Given the description of an element on the screen output the (x, y) to click on. 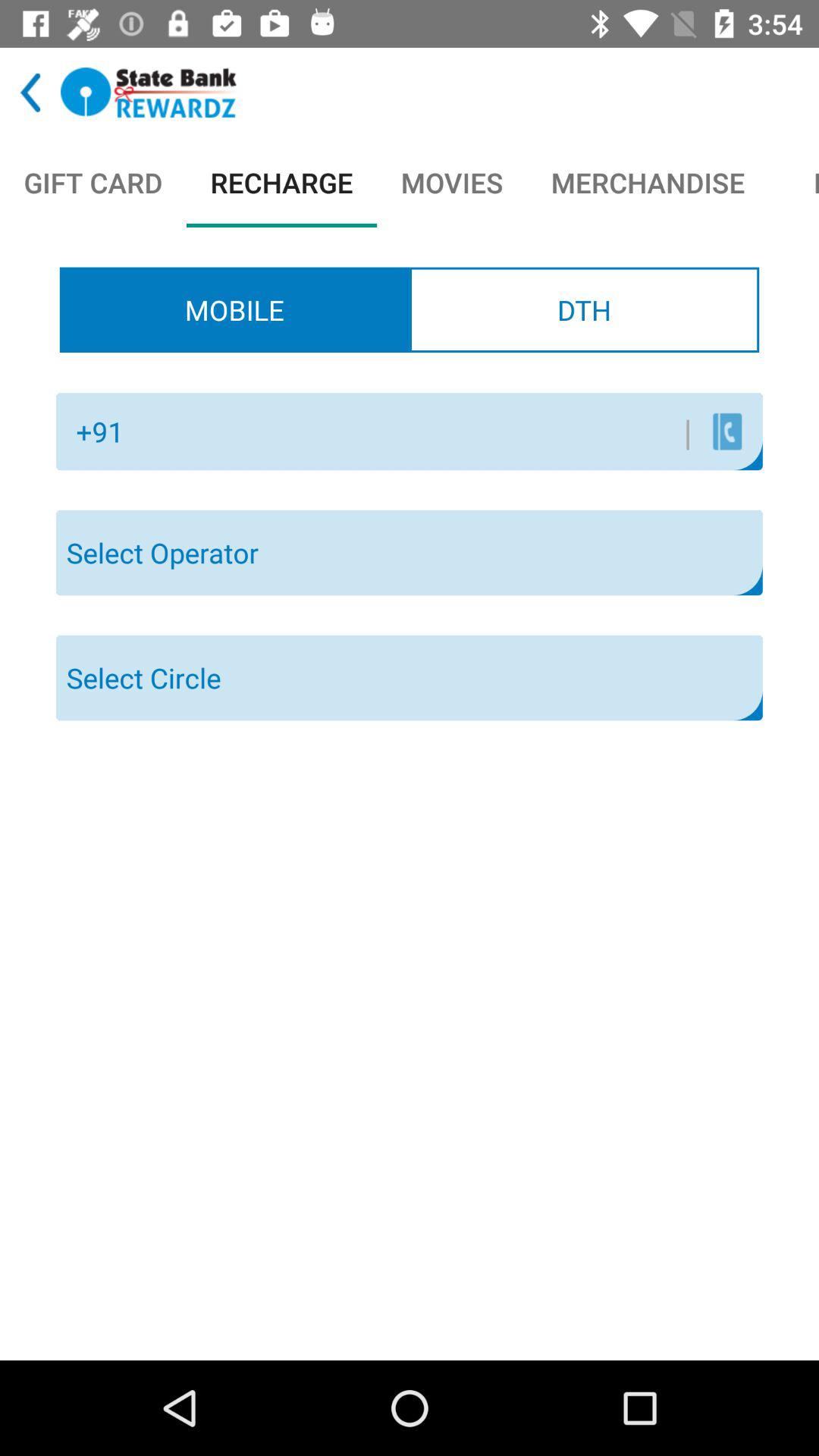
turn off the icon to the right of +91 app (413, 431)
